Given the description of an element on the screen output the (x, y) to click on. 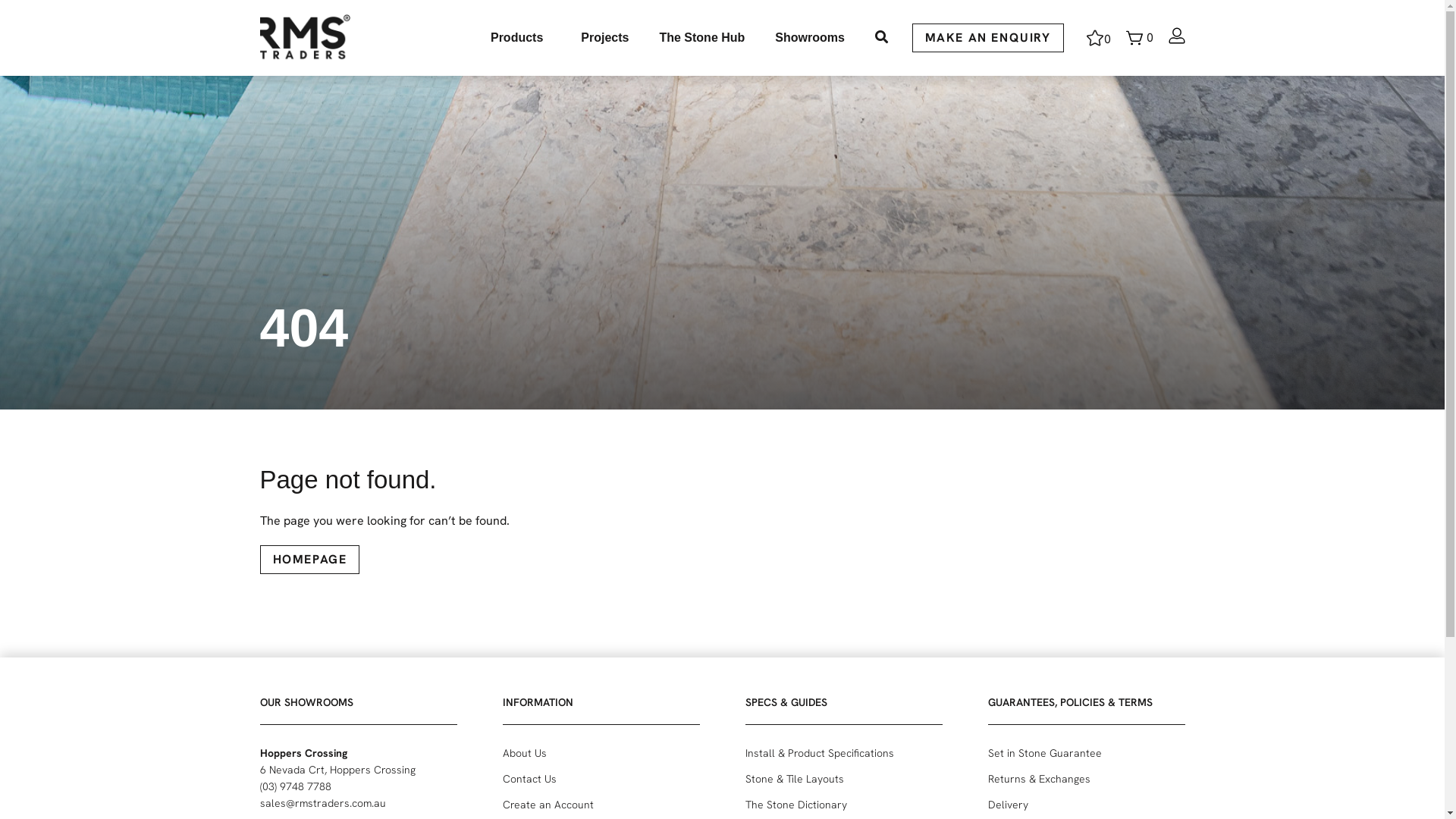
Contact Us Element type: text (600, 778)
(03) 9748 7788 Element type: text (294, 786)
sales@rmstraders.com.au Element type: text (322, 802)
The Stone Dictionary Element type: text (842, 804)
HOMEPAGE Element type: text (309, 559)
0 Element type: text (1138, 37)
0 Element type: text (1097, 37)
Set in Stone Guarantee Element type: text (1085, 752)
MAKE AN ENQUIRY Element type: text (987, 37)
About Us Element type: text (600, 752)
Returns & Exchanges Element type: text (1085, 778)
Create an Account Element type: text (600, 804)
The Stone Hub Element type: text (701, 37)
Install & Product Specifications Element type: text (842, 752)
Showrooms Element type: text (809, 37)
Products Element type: text (520, 37)
Projects Element type: text (604, 37)
Stone & Tile Layouts Element type: text (842, 778)
Delivery Element type: text (1085, 804)
